Given the description of an element on the screen output the (x, y) to click on. 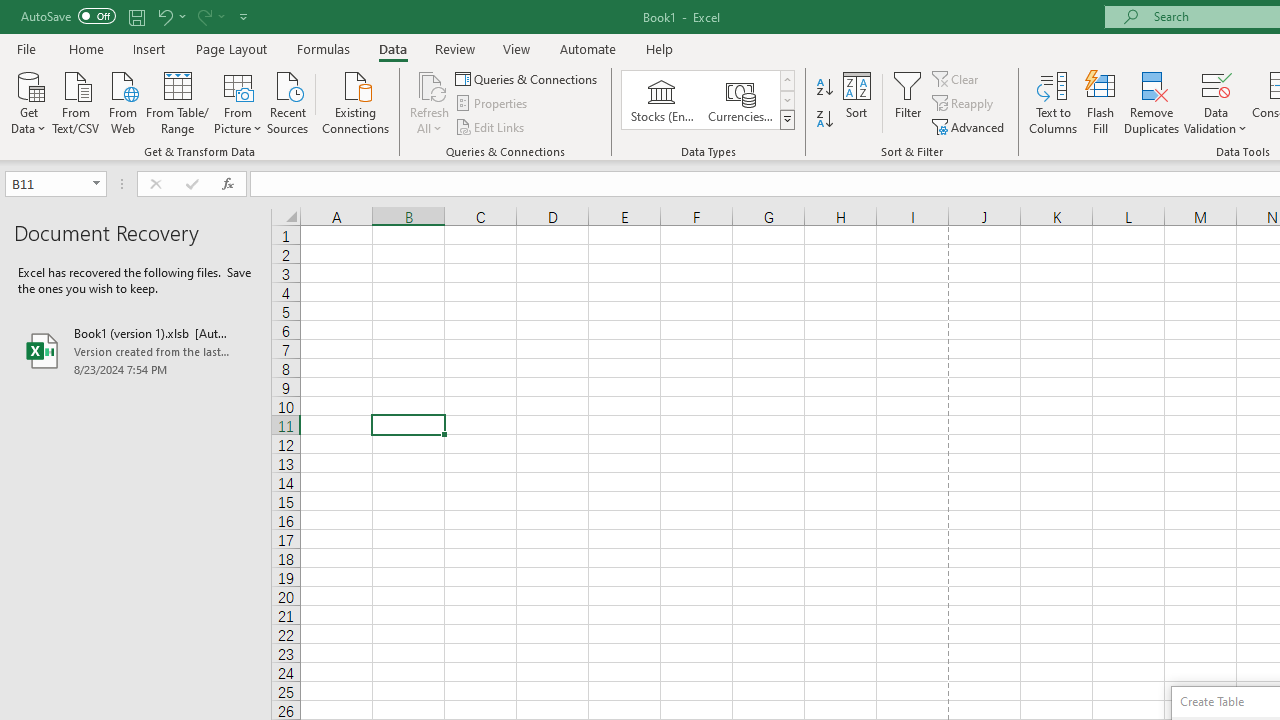
Row Down (786, 100)
Stocks (English) (662, 100)
Remove Duplicates (1151, 102)
Name Box (46, 183)
Class: NetUIImage (787, 119)
Existing Connections (355, 101)
From Table/Range (177, 101)
Properties (492, 103)
Customize Quick Access Toolbar (244, 15)
Currencies (English) (740, 100)
Page Layout (230, 48)
File Tab (26, 48)
From Picture (238, 101)
Sort... (856, 102)
